Given the description of an element on the screen output the (x, y) to click on. 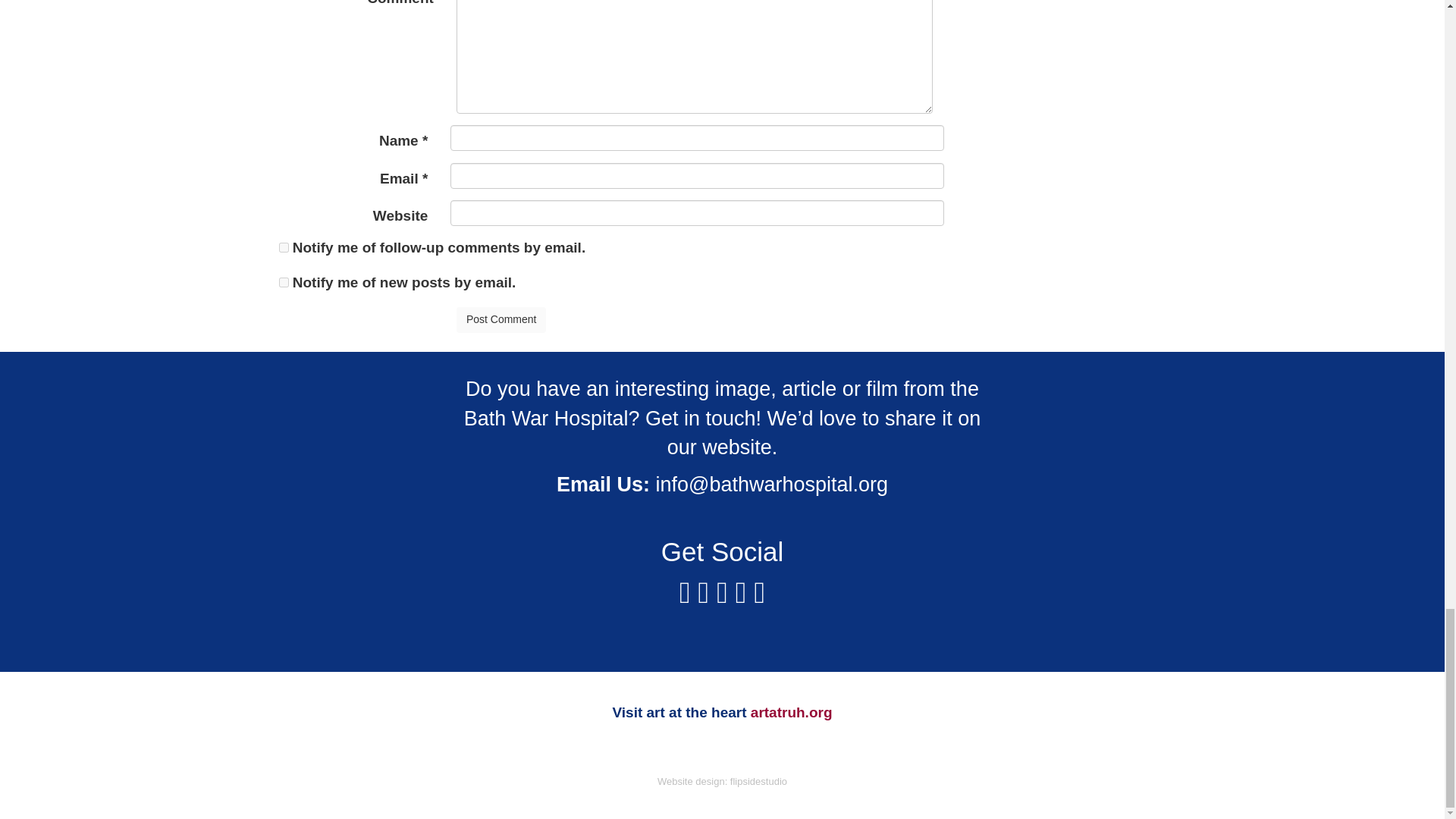
subscribe (283, 247)
artatruh.org (791, 712)
Post Comment (502, 319)
subscribe (283, 282)
Post Comment (502, 319)
